Given the description of an element on the screen output the (x, y) to click on. 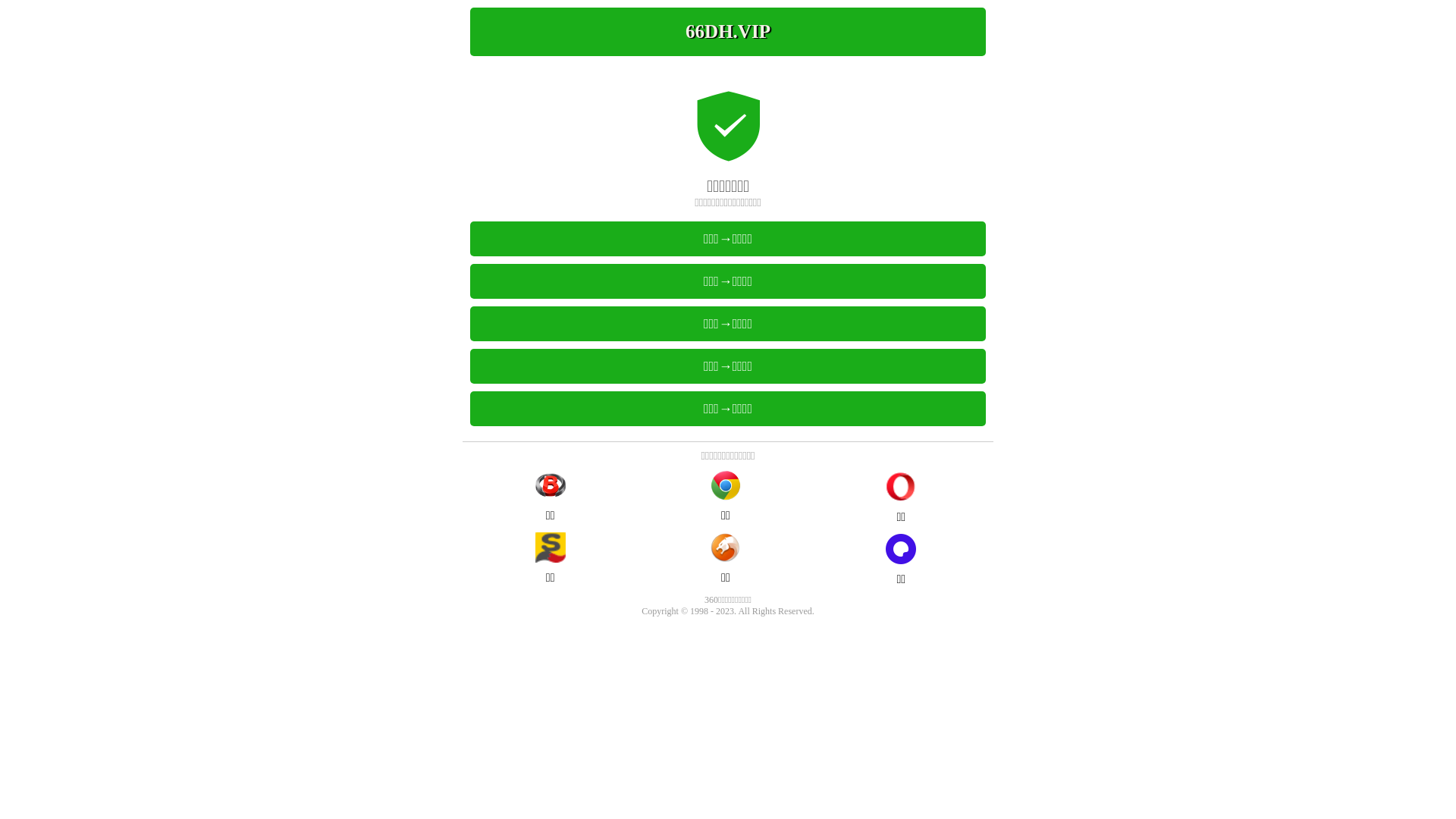
66DH.VIP Element type: text (727, 31)
